Given the description of an element on the screen output the (x, y) to click on. 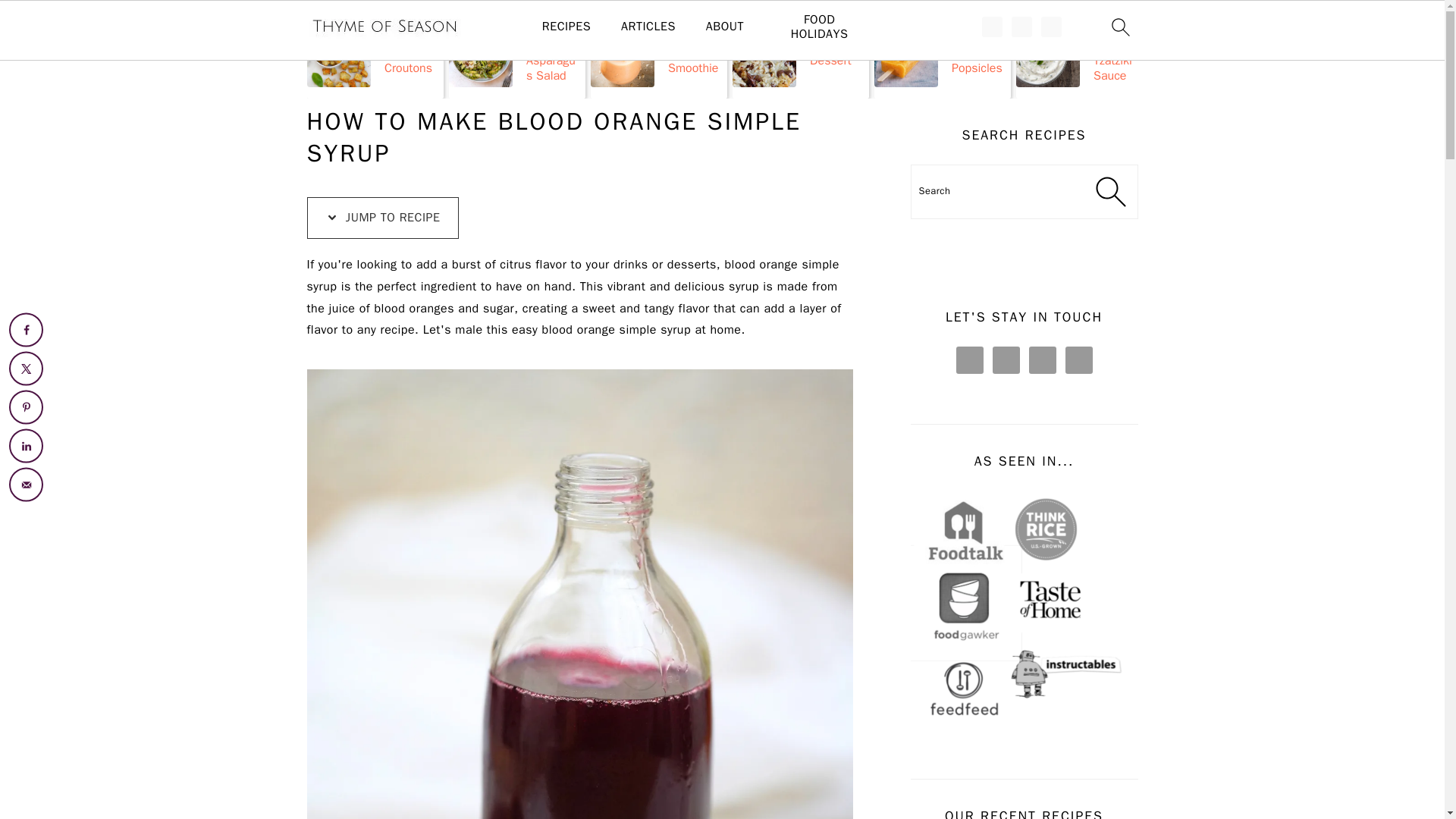
Share on LinkedIn (25, 446)
Share on X (25, 368)
FOOD HOLIDAYS (819, 27)
search icon (1119, 26)
Share on Facebook (25, 329)
ABOUT (725, 26)
RECIPES (566, 26)
Magic Bar Dessert (800, 52)
Save to Pinterest (25, 406)
Refreshing Asparagus Salad (516, 52)
ARTICLES (648, 26)
Send over email (25, 483)
Fresh Peach Smoothie (657, 52)
Parmesan Basil Croutons (373, 52)
